Given the description of an element on the screen output the (x, y) to click on. 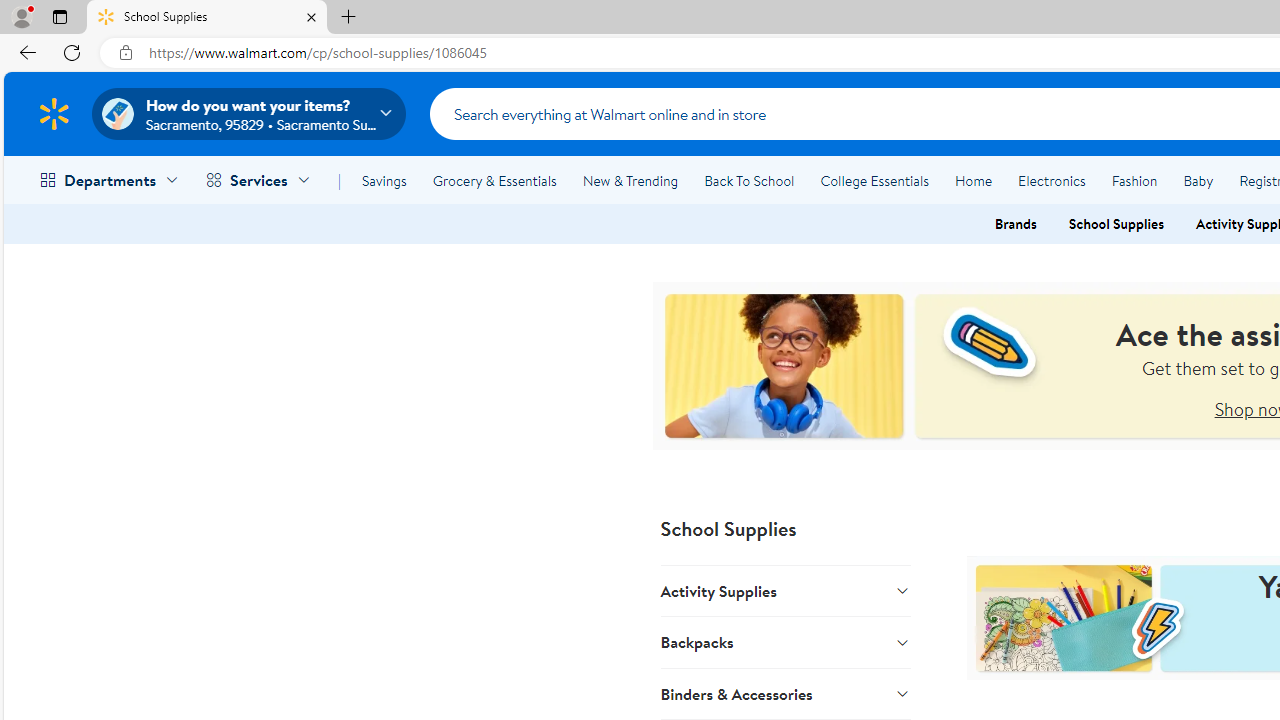
School Supplies (207, 17)
Baby (1197, 180)
Walmart Homepage (53, 113)
School Supplies (1116, 224)
Baby (1197, 180)
Electronics (1051, 180)
